Given the description of an element on the screen output the (x, y) to click on. 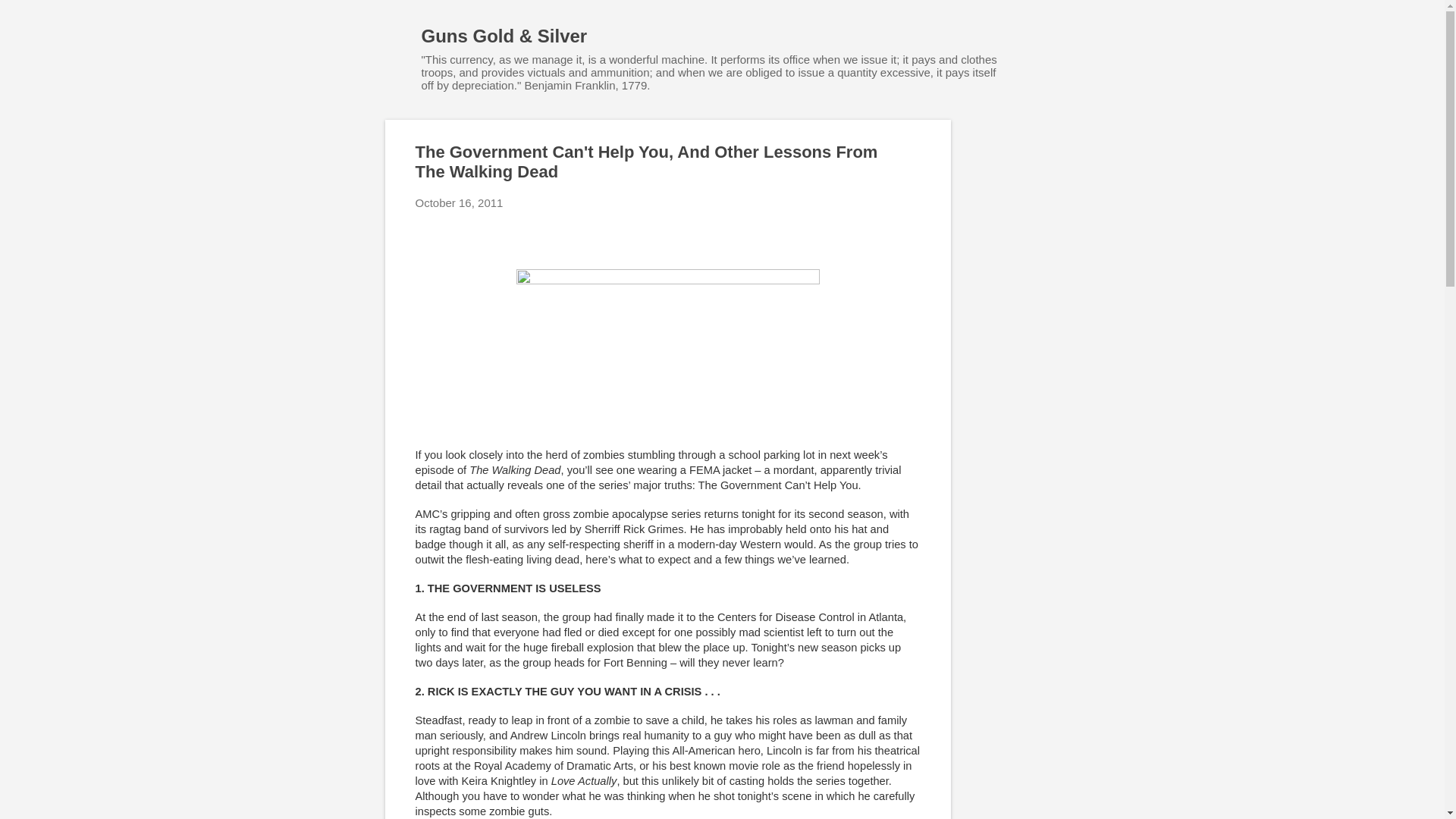
permanent link (458, 202)
October 16, 2011 (458, 202)
